Given the description of an element on the screen output the (x, y) to click on. 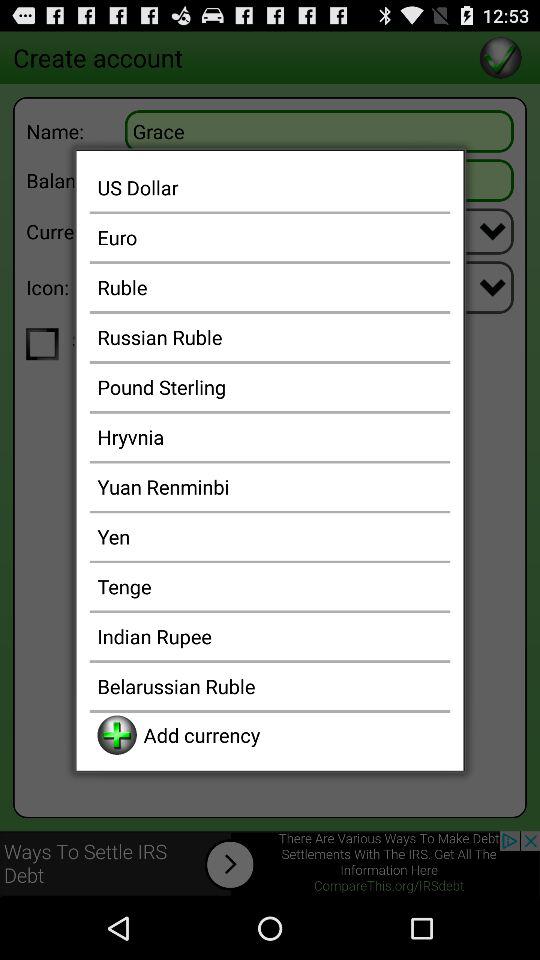
scroll to indian rupee icon (269, 636)
